Given the description of an element on the screen output the (x, y) to click on. 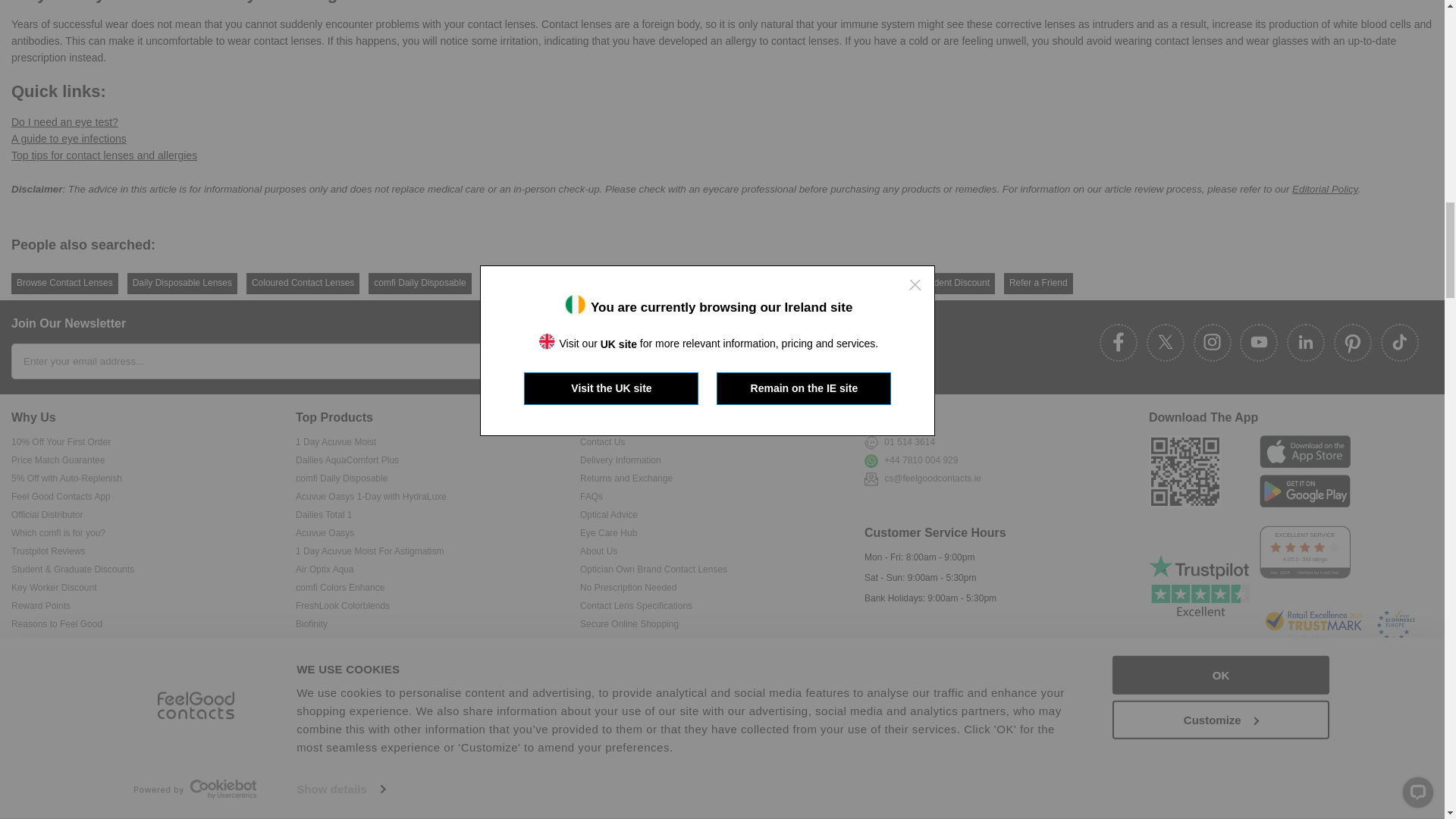
Subscribe (567, 361)
